Given the description of an element on the screen output the (x, y) to click on. 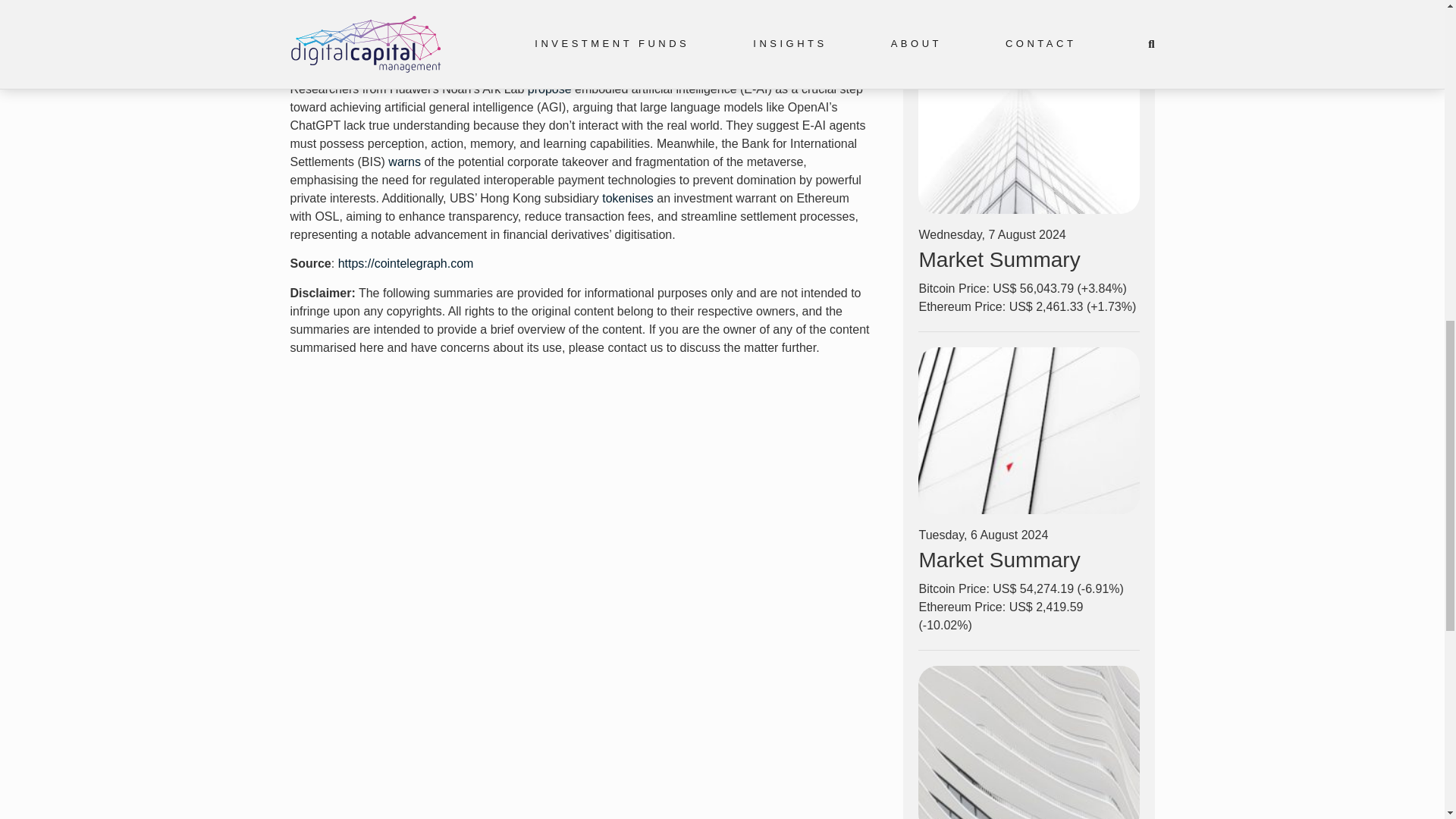
warns (404, 161)
20 (1028, 430)
propose (551, 88)
19 (1028, 742)
announced (588, 22)
tokenises (629, 197)
21 (1028, 129)
